Given the description of an element on the screen output the (x, y) to click on. 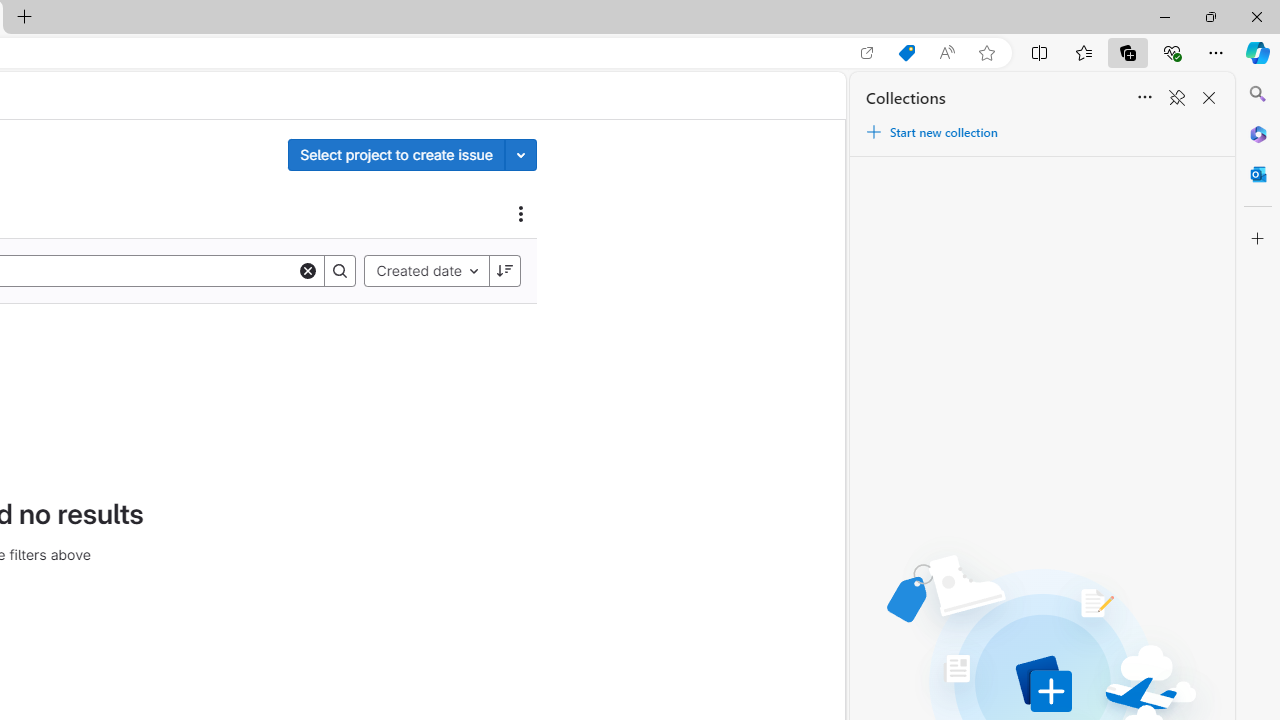
Toggle project select (521, 154)
Clear (308, 269)
Close Collections (1208, 98)
Unpin Collections (1176, 98)
Select project to create issue (396, 154)
Start new collection (931, 132)
